Given the description of an element on the screen output the (x, y) to click on. 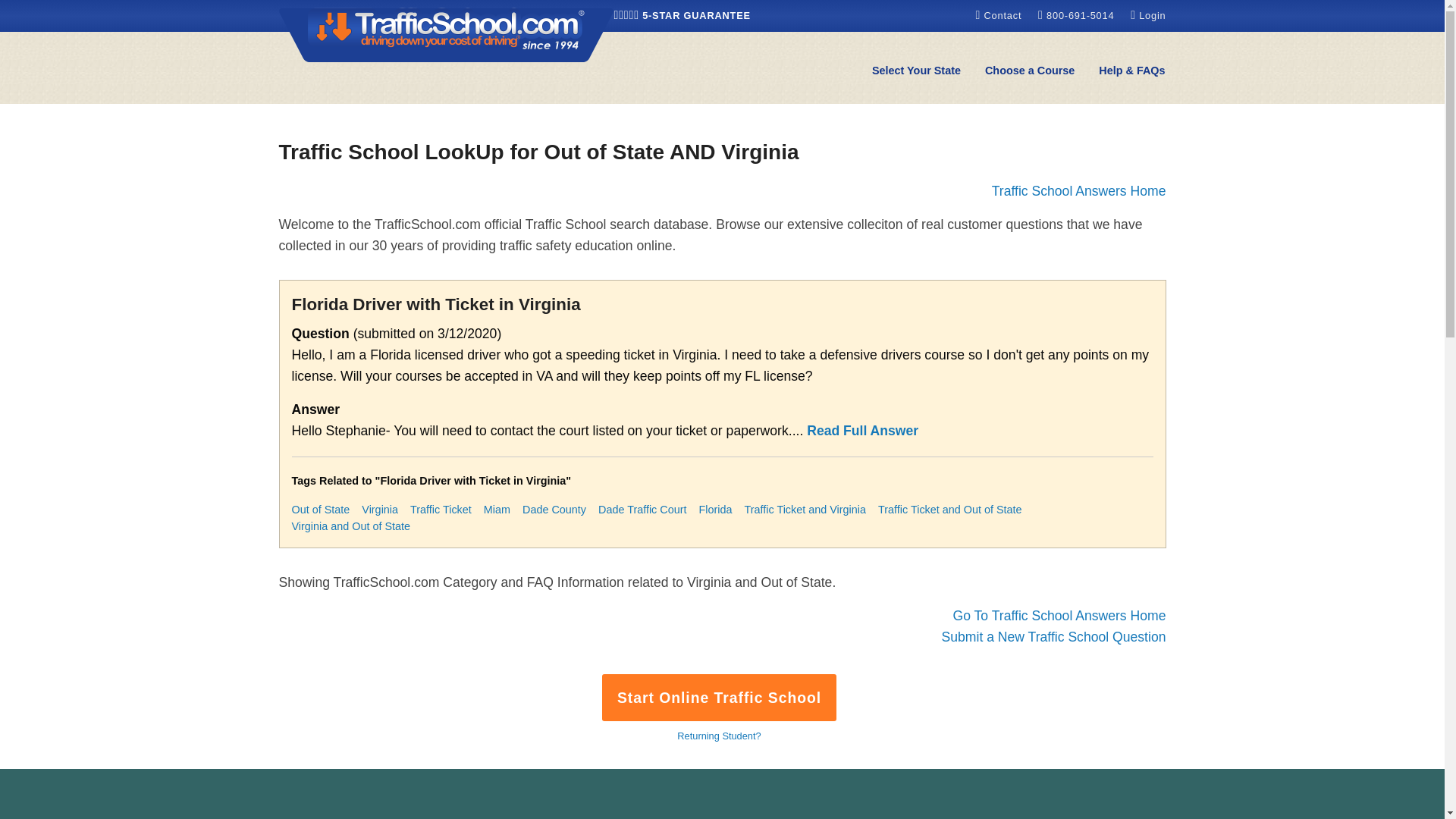
800-691-5014 (1078, 15)
Select Your State (916, 70)
Florida (715, 509)
Dade Traffic Court (642, 509)
View Our Courses (1029, 70)
Returning Student? (718, 736)
5-STAR GUARANTEE (682, 15)
Call Traffic School (1078, 15)
Help and FAQs (1131, 70)
Read Full Answer (862, 430)
TrafficSchool.com 5 Star Guarantee (682, 15)
Traffic School Official Site (446, 34)
Traffic Ticket and Out of State (949, 509)
Traffic School Answers Home (1078, 191)
Virginia (379, 509)
